Given the description of an element on the screen output the (x, y) to click on. 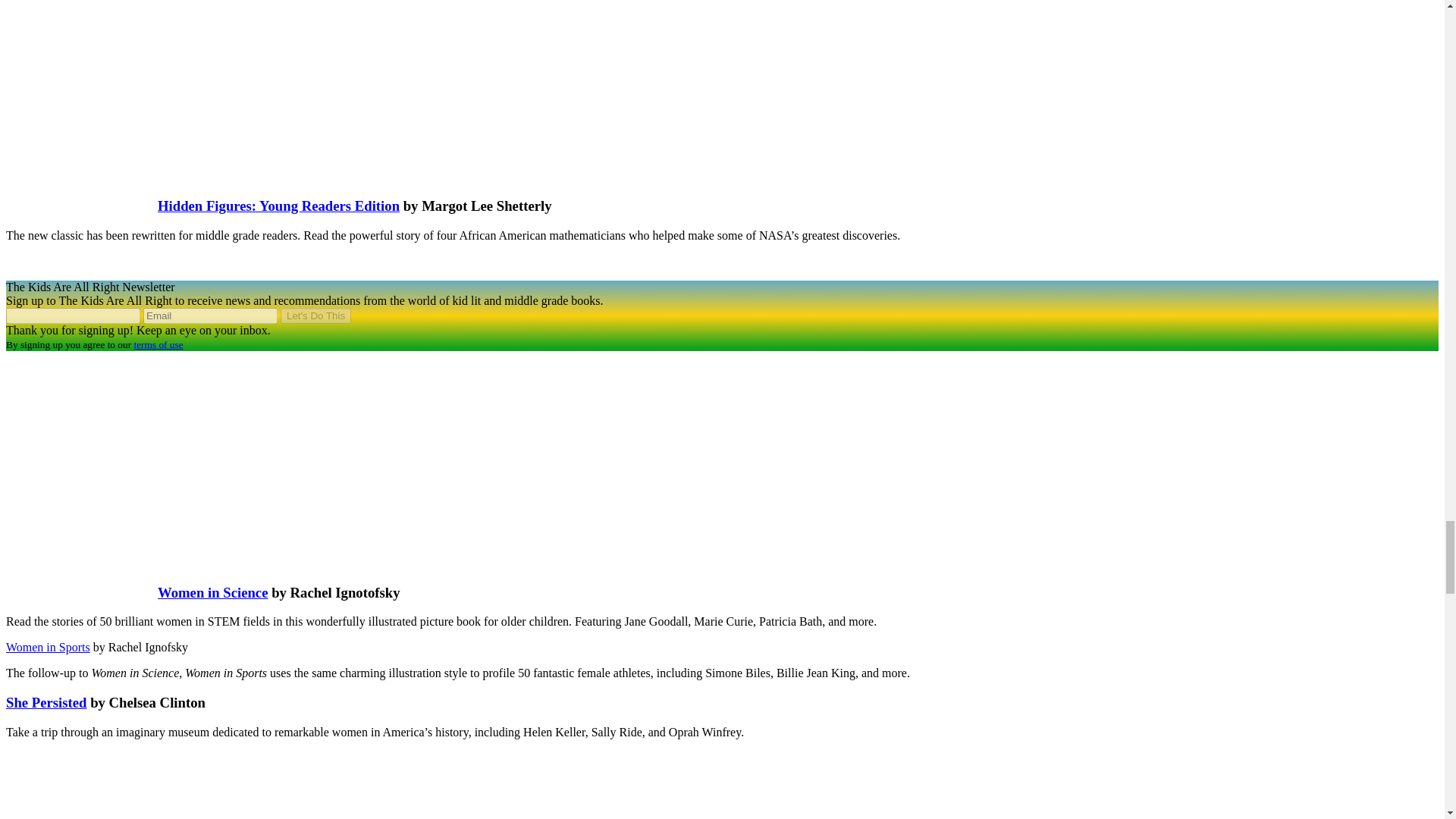
Buy From Amazon (47, 646)
Buy From Amazon (277, 205)
Buy From Amazon (212, 592)
Buy From Amazon (46, 702)
